Given the description of an element on the screen output the (x, y) to click on. 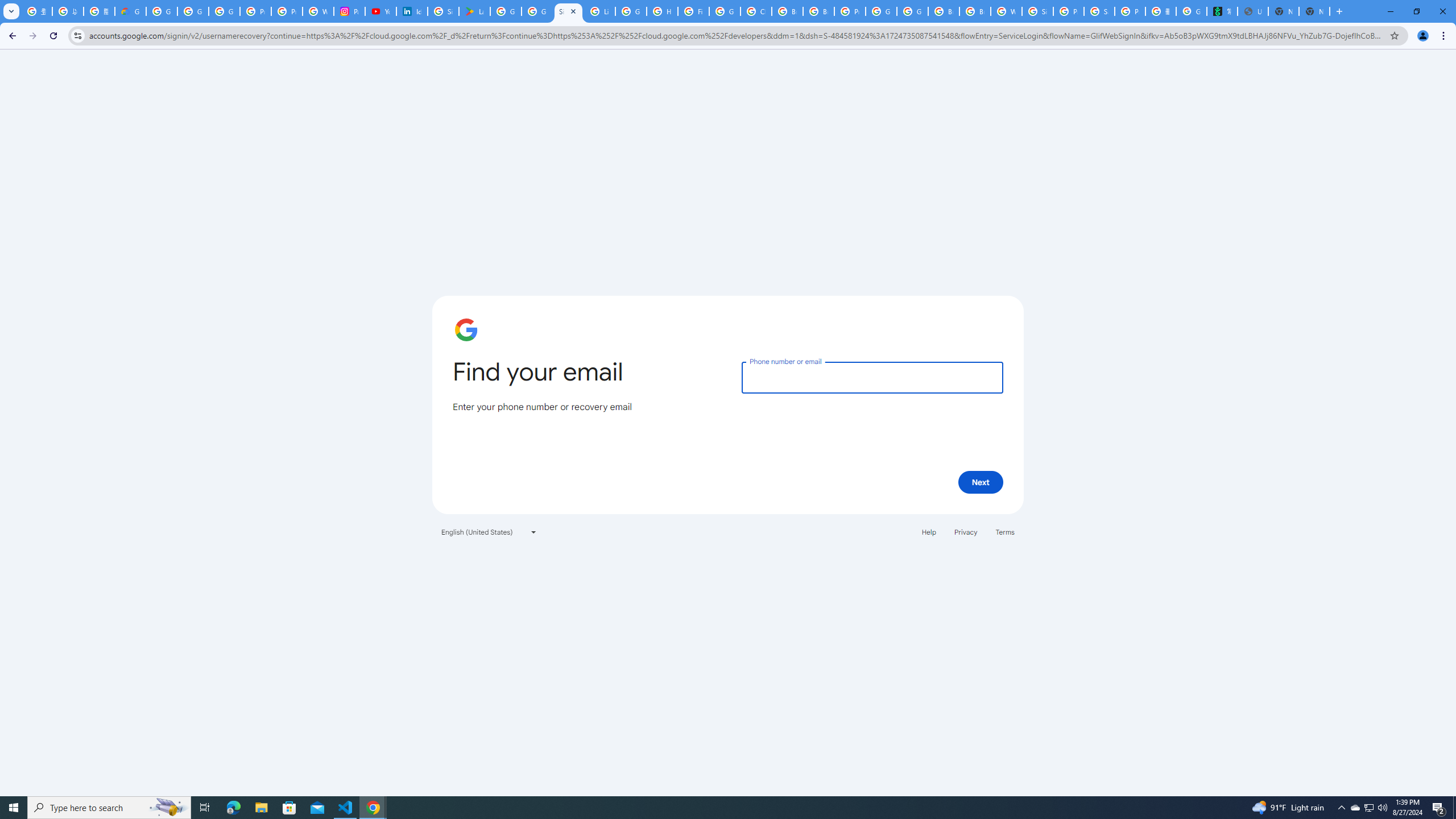
Privacy Help Center - Policies Help (286, 11)
Sign in - Google Accounts (568, 11)
Untitled (1252, 11)
Last Shelter: Survival - Apps on Google Play (474, 11)
Browse Chrome as a guest - Computer - Google Chrome Help (943, 11)
YouTube Culture & Trends - On The Rise: Handcam Videos (380, 11)
Sign in - Google Accounts (1037, 11)
